Given the description of an element on the screen output the (x, y) to click on. 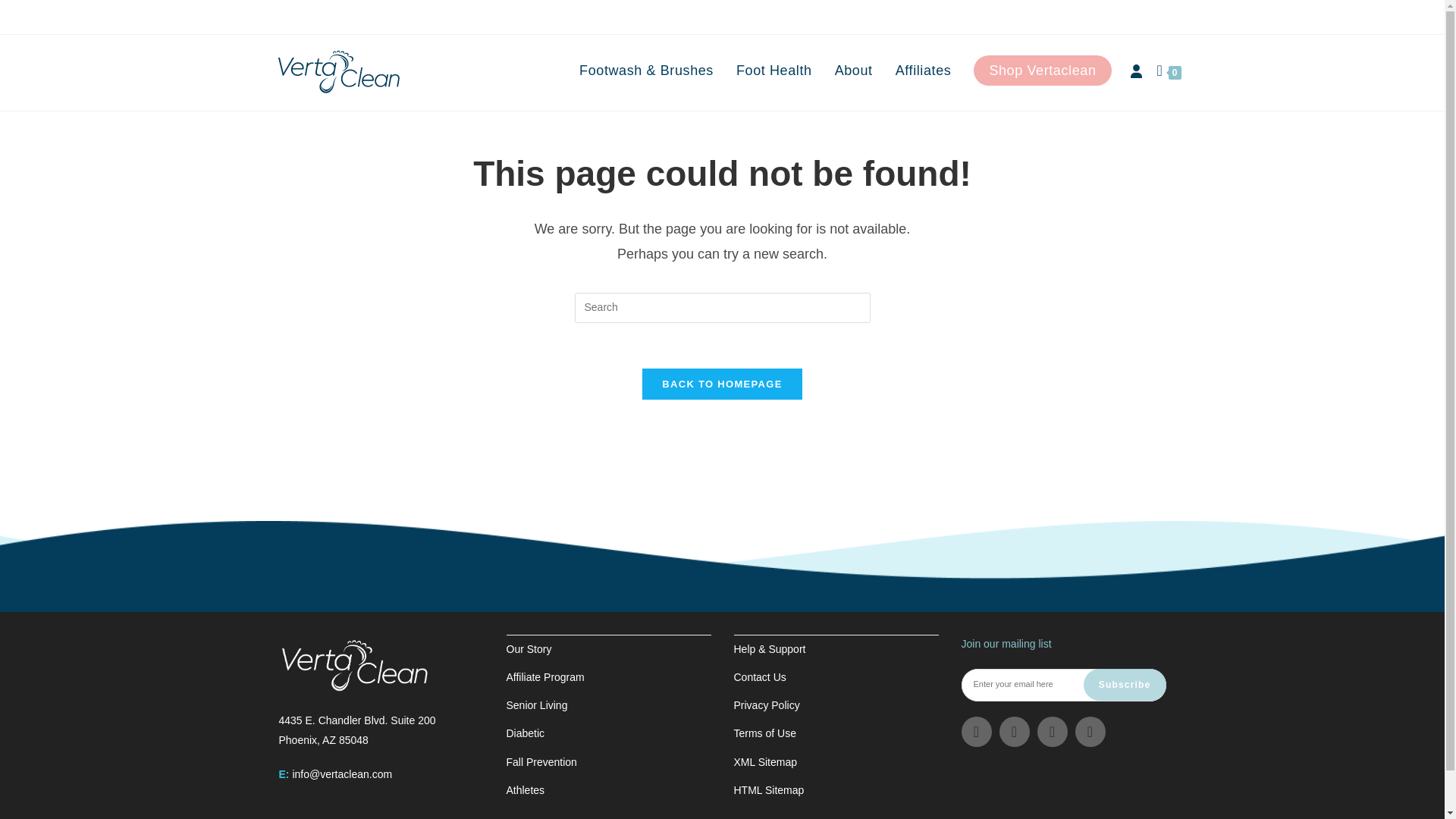
Terms of Use (764, 733)
Foot Health (774, 70)
Subscribe (1124, 685)
Diabetic (525, 733)
BACK TO HOMEPAGE (722, 383)
Contact Us (759, 676)
Privacy Policy (766, 705)
Our Story (528, 648)
HTML Sitemap (769, 789)
Subscribe (1124, 685)
0 (1169, 72)
Senior Living (536, 705)
Affiliates (922, 70)
Shop Vertaclean (1042, 70)
Affiliate Program (545, 676)
